Given the description of an element on the screen output the (x, y) to click on. 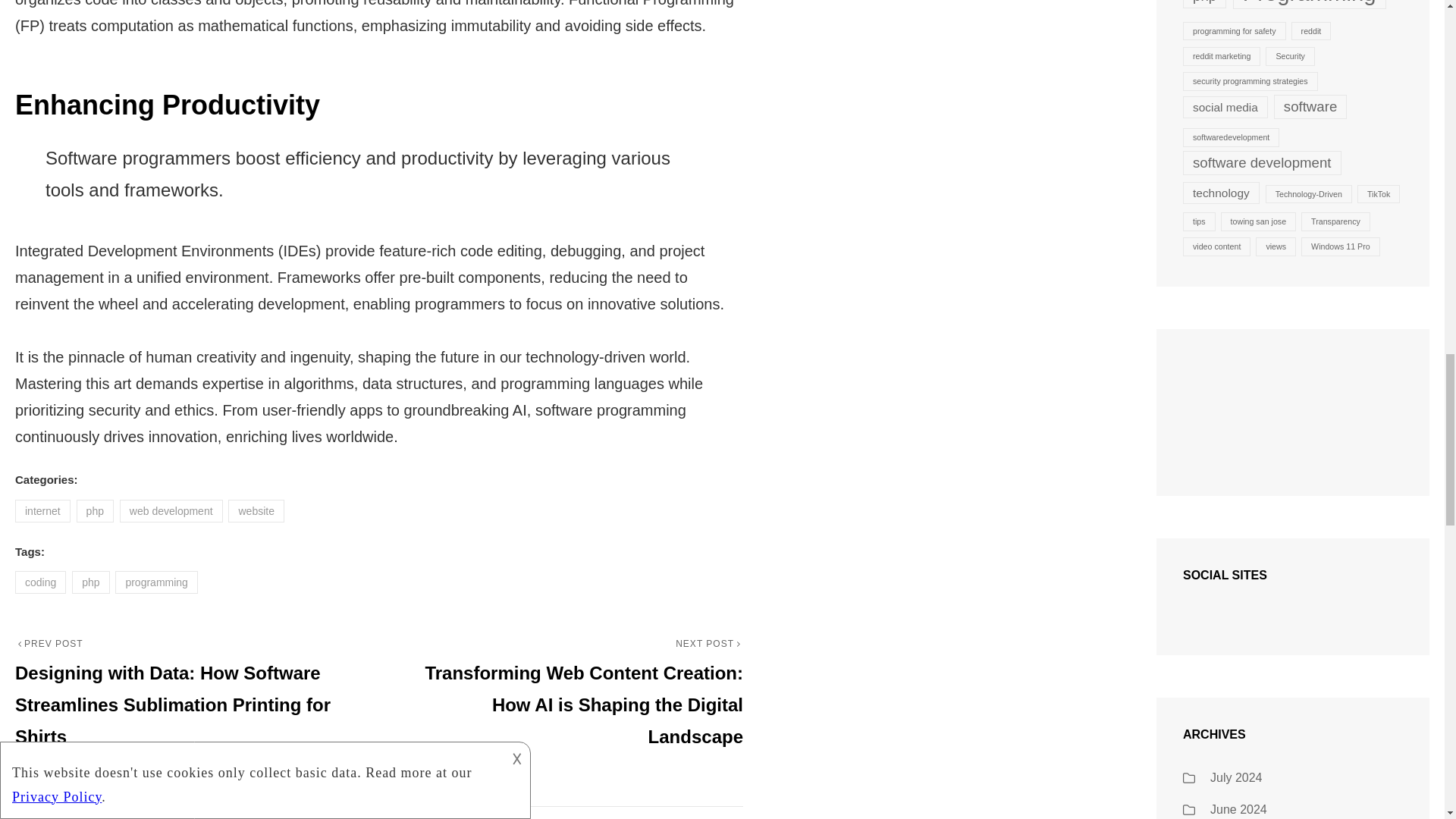
coding (39, 581)
php (90, 581)
website (255, 510)
programming (155, 581)
internet (41, 510)
web development (170, 510)
php (95, 510)
